Given the description of an element on the screen output the (x, y) to click on. 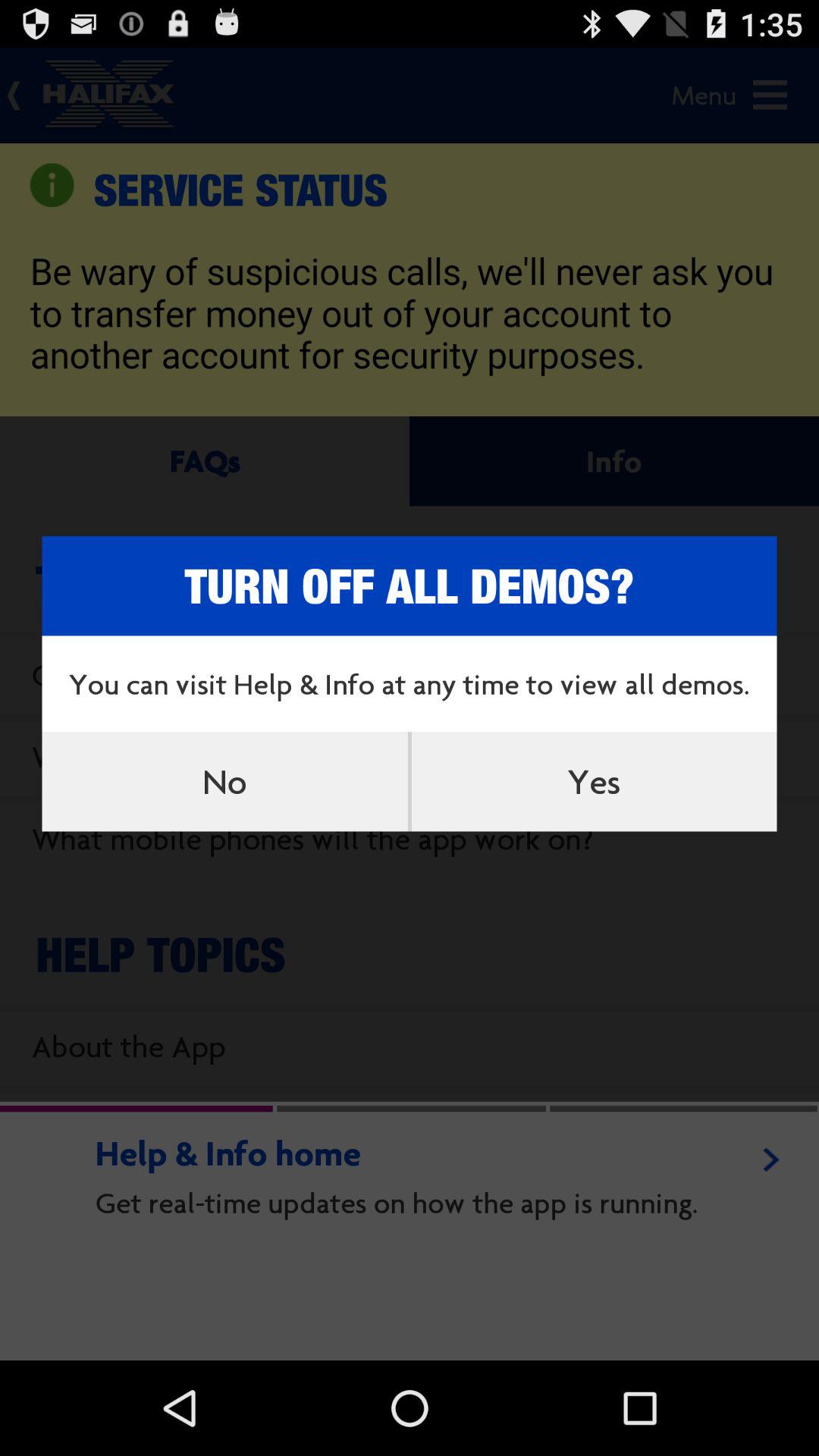
swipe to the no item (224, 781)
